Given the description of an element on the screen output the (x, y) to click on. 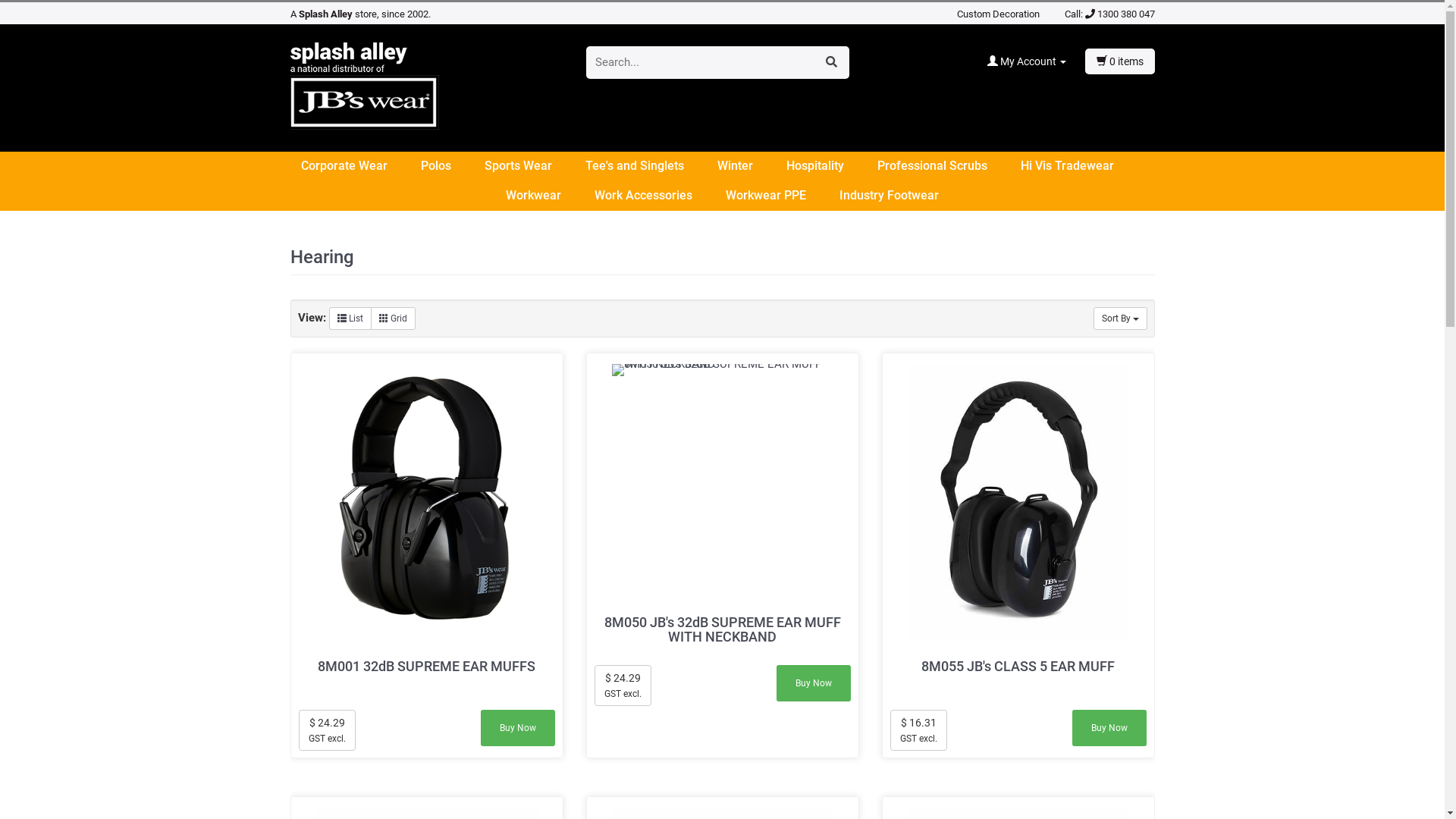
1300 380 047 Element type: text (1119, 13)
Buy Now Element type: text (1109, 727)
Workwear Element type: text (548, 195)
My Account Element type: text (1036, 61)
8M055 JB's CLASS 5 EAR MUFF Element type: text (1018, 666)
8M055 JB's CLASS 5 EAR MUFF Element type: hover (1017, 501)
Polos Element type: text (450, 166)
$ 24.29
GST excl. Element type: text (326, 729)
Winter Element type: text (750, 166)
Buy Now Element type: text (813, 683)
Custom Decoration Element type: text (998, 13)
Professional Scrubs Element type: text (946, 166)
Workwear PPE Element type: text (780, 195)
Grid Element type: text (392, 318)
$ 16.31
GST excl. Element type: text (918, 729)
$ 24.29
GST excl. Element type: text (622, 685)
Work Accessories Element type: text (658, 195)
Buy Now Element type: text (517, 727)
Sort By Element type: text (1120, 318)
8M050 JB's 32dB SUPREME EAR MUFF WITH NECKBAND Element type: text (722, 630)
8M001 32dB SUPREME EAR MUFFS Element type: hover (425, 501)
Hospitality Element type: text (829, 166)
Hi Vis Tradewear Element type: text (1082, 166)
8M001 32dB SUPREME EAR MUFFS Element type: text (426, 666)
Tee's and Singlets Element type: text (649, 166)
8M050 JB's 32dB SUPREME EAR MUFF WITH NECKBAND Element type: hover (721, 479)
List Element type: text (350, 318)
Corporate Wear Element type: text (358, 166)
Industry Footwear Element type: text (888, 195)
Sports Wear Element type: text (532, 166)
